Given the description of an element on the screen output the (x, y) to click on. 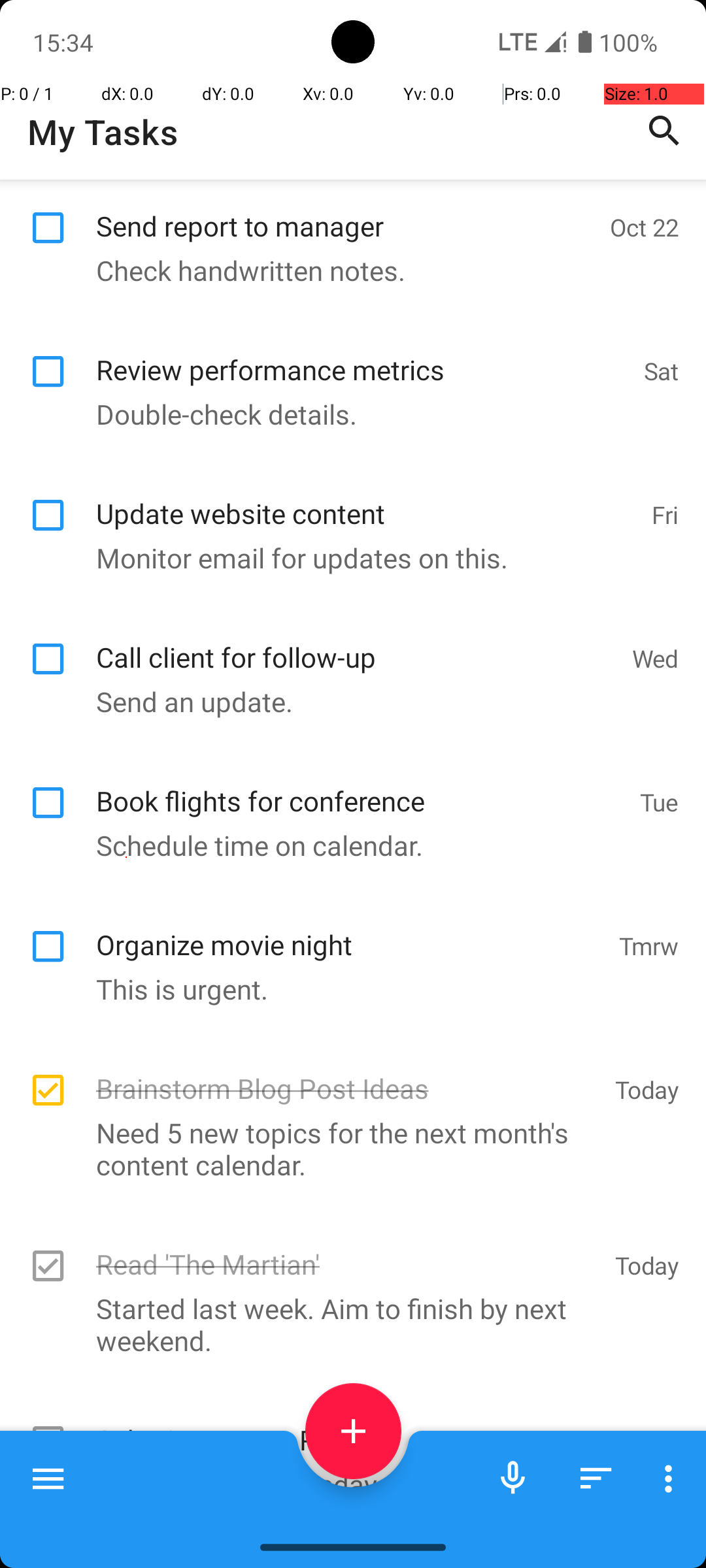
Send report to manager Element type: android.widget.TextView (346, 211)
Check handwritten notes. Element type: android.widget.TextView (346, 269)
Oct 22 Element type: android.widget.TextView (644, 226)
Review performance metrics Element type: android.widget.TextView (363, 355)
Double-check details. Element type: android.widget.TextView (346, 413)
Update website content Element type: android.widget.TextView (367, 499)
Monitor email for updates on this. Element type: android.widget.TextView (346, 557)
Call client for follow-up Element type: android.widget.TextView (357, 642)
Send an update. Element type: android.widget.TextView (346, 700)
Book flights for conference Element type: android.widget.TextView (361, 786)
Schedule time on calendar. Element type: android.widget.TextView (346, 844)
Organize movie night Element type: android.widget.TextView (350, 930)
This is urgent. Element type: android.widget.TextView (346, 988)
Brainstorm Blog Post Ideas Element type: android.widget.TextView (348, 1074)
Need 5 new topics for the next month's content calendar. Element type: android.widget.TextView (346, 1148)
Started last week. Aim to finish by next weekend. Element type: android.widget.TextView (346, 1323)
Deadline is Wednesday. Attach receipts for all purchases. Element type: android.widget.TextView (346, 1495)
